Given the description of an element on the screen output the (x, y) to click on. 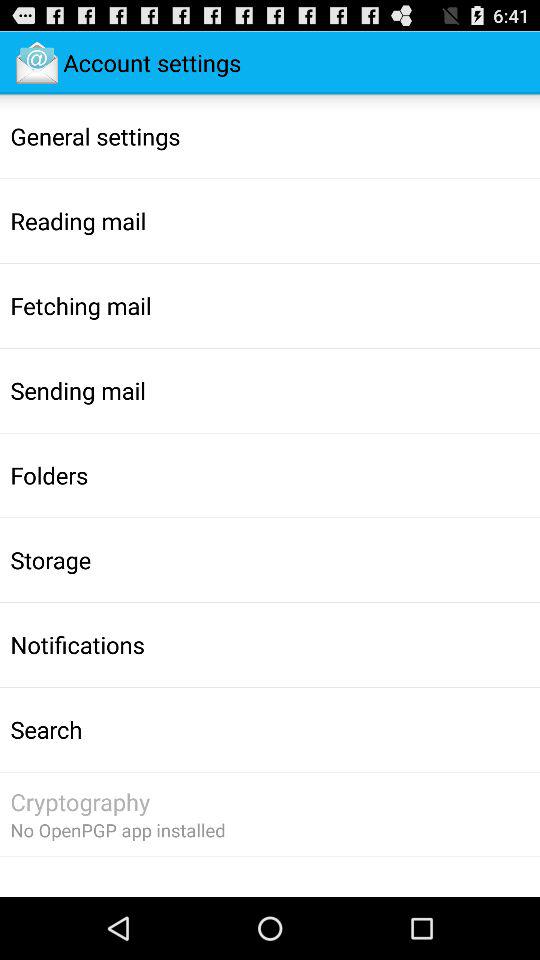
turn on notifications (77, 644)
